Given the description of an element on the screen output the (x, y) to click on. 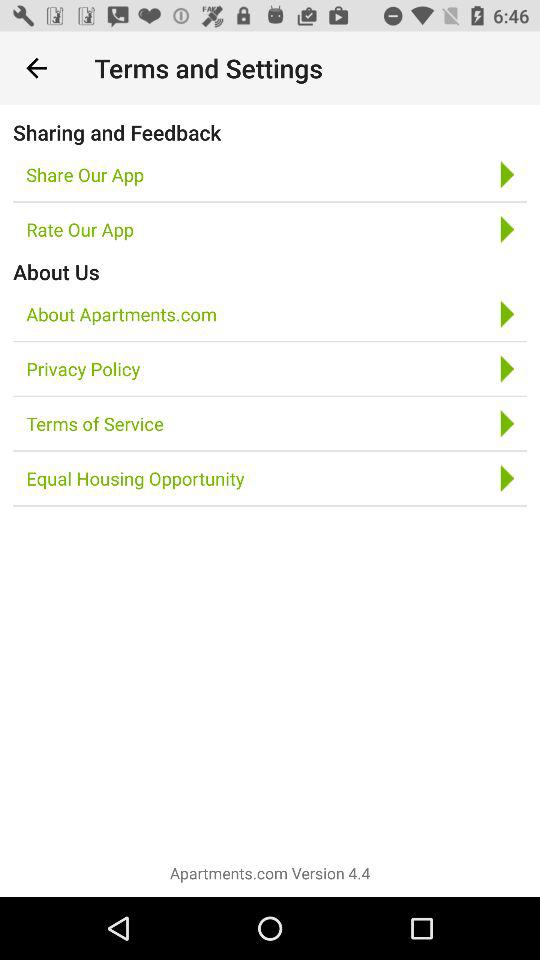
choose icon above apartments com version item (135, 478)
